Given the description of an element on the screen output the (x, y) to click on. 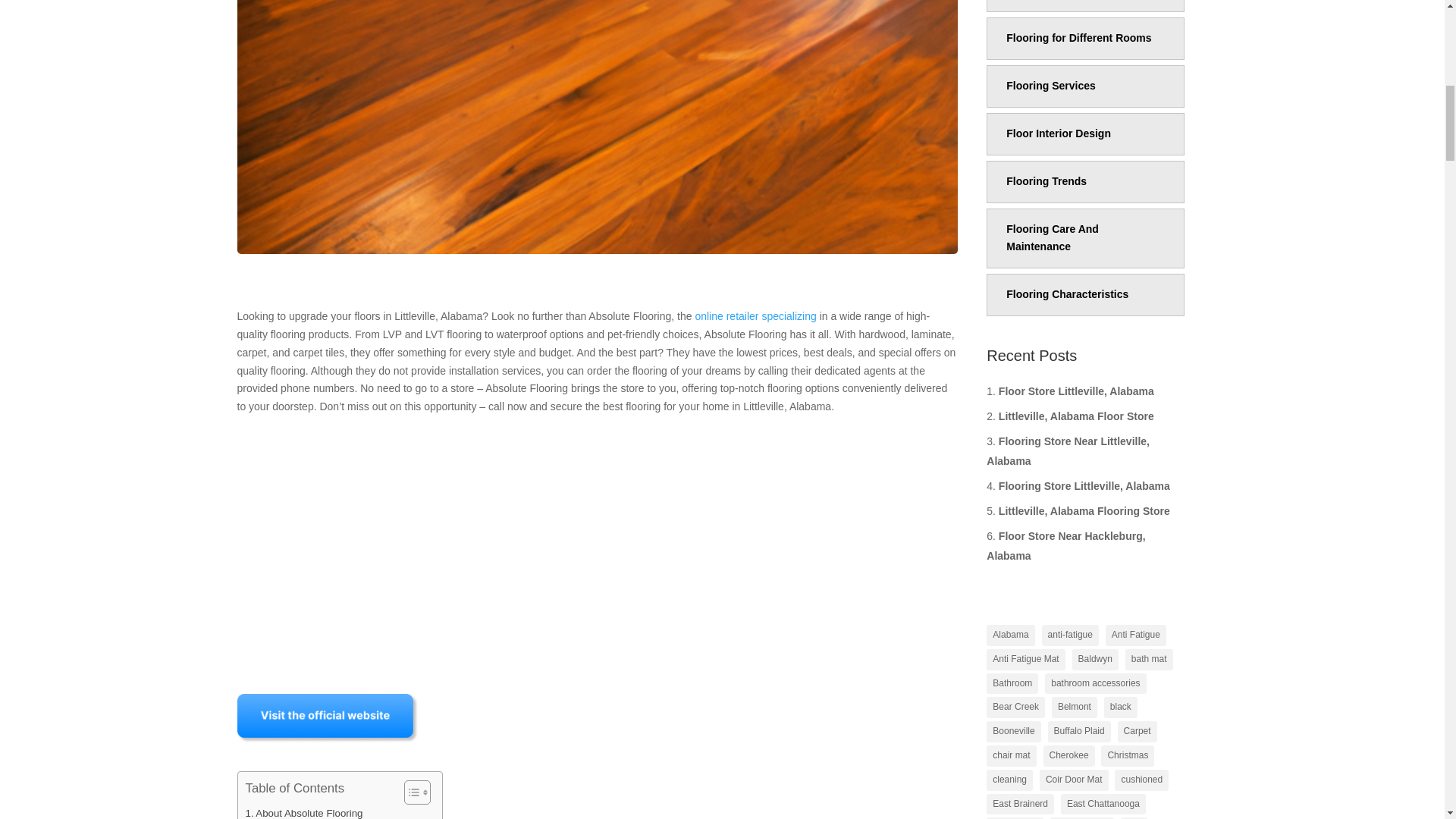
online retailer specializing (754, 316)
About Absolute Flooring (304, 812)
About Absolute Flooring (304, 812)
